Given the description of an element on the screen output the (x, y) to click on. 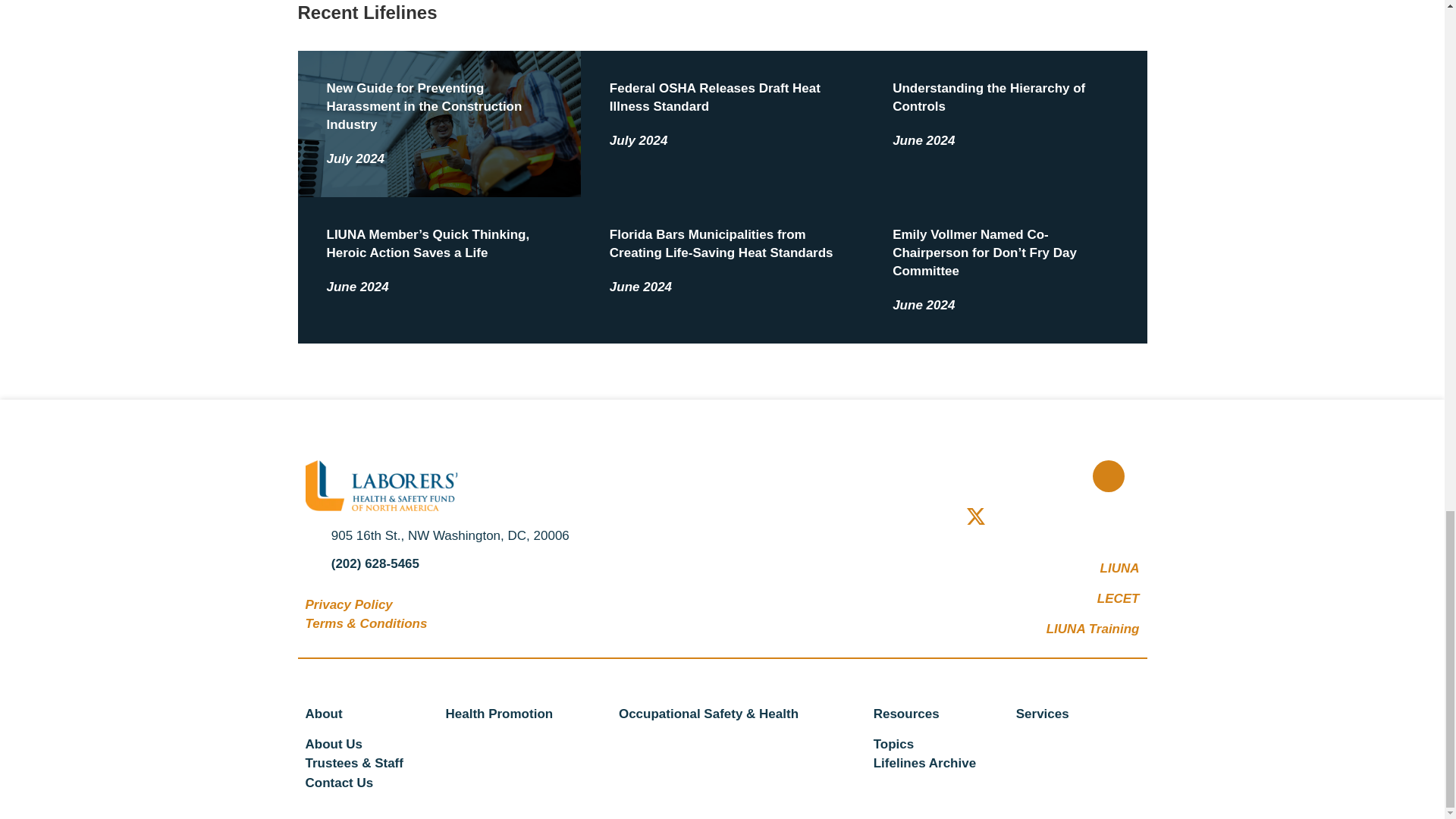
Federal OSHA Releases Draft Heat Illness Standard (715, 97)
Understanding the Hierarchy of Controls (988, 97)
